Given the description of an element on the screen output the (x, y) to click on. 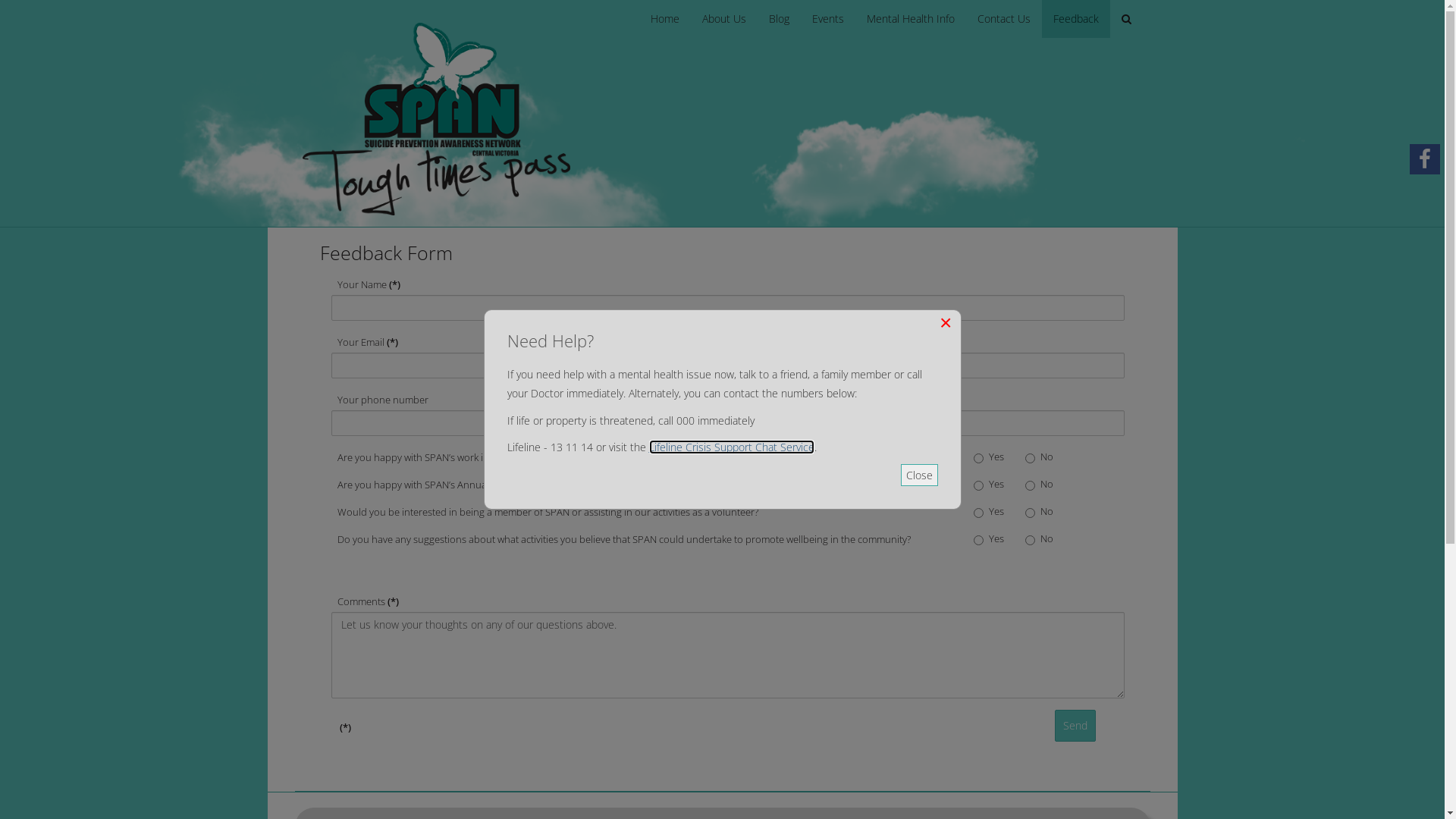
Contact Us Element type: text (1003, 18)
Feedback Element type: text (1075, 18)
Close Element type: text (919, 475)
Mental Health Info Element type: text (910, 18)
Events Element type: text (827, 18)
About Us Element type: text (723, 18)
Home Element type: text (664, 18)
Lifeline Crisis Support Chat Service Element type: text (731, 446)
Blog Element type: text (778, 18)
Send Element type: text (1074, 725)
